Given the description of an element on the screen output the (x, y) to click on. 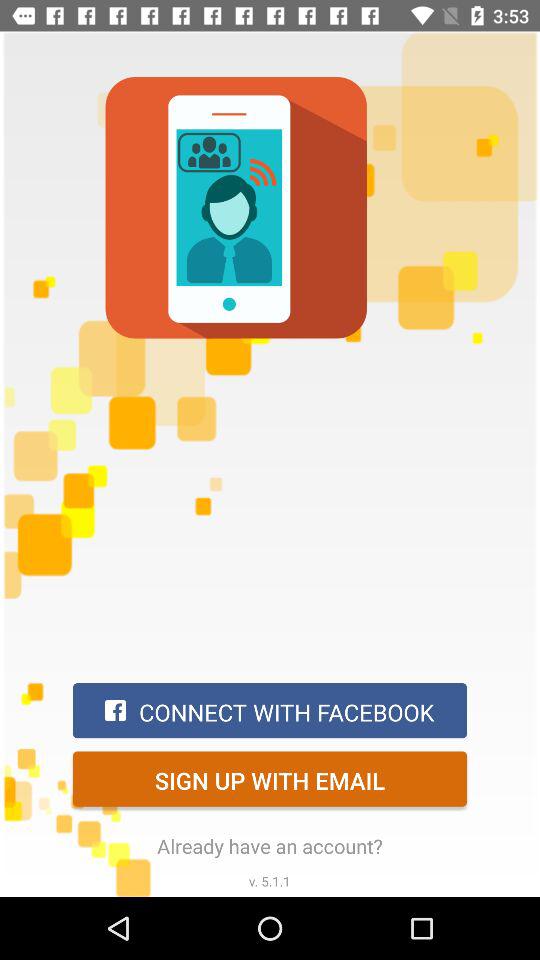
launch sign up with item (269, 778)
